Given the description of an element on the screen output the (x, y) to click on. 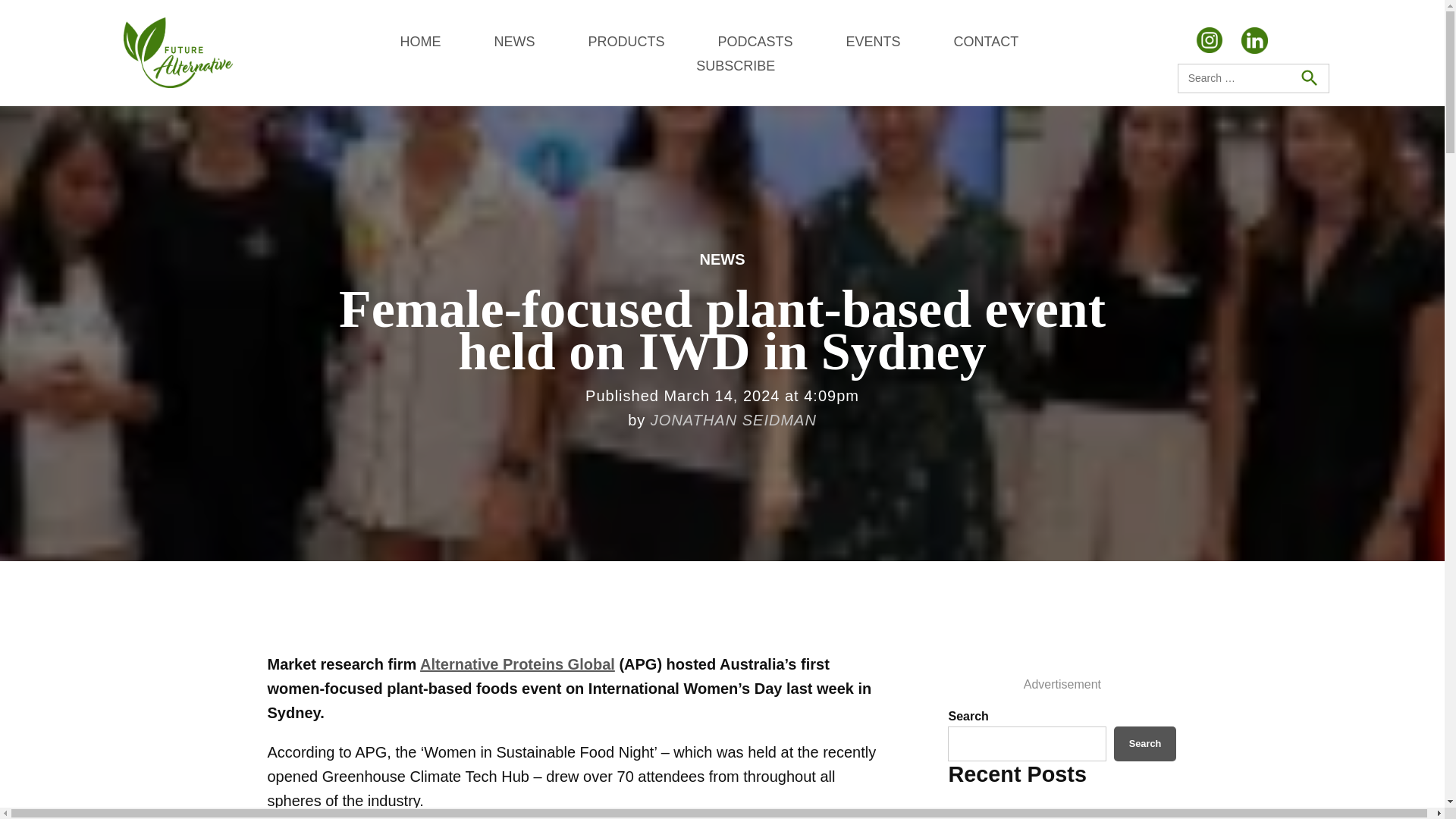
PODCASTS (754, 40)
NEWS (721, 258)
Search (1308, 78)
NZ cultivated biotech Opo Bio launches new funding round  (1034, 816)
POSTS BY JONATHAN SEIDMAN (733, 419)
Alternative Proteins Global (517, 664)
Search (1144, 743)
JONATHAN SEIDMAN (733, 419)
SUBSCRIBE (734, 64)
CONTACT (986, 40)
